Given the description of an element on the screen output the (x, y) to click on. 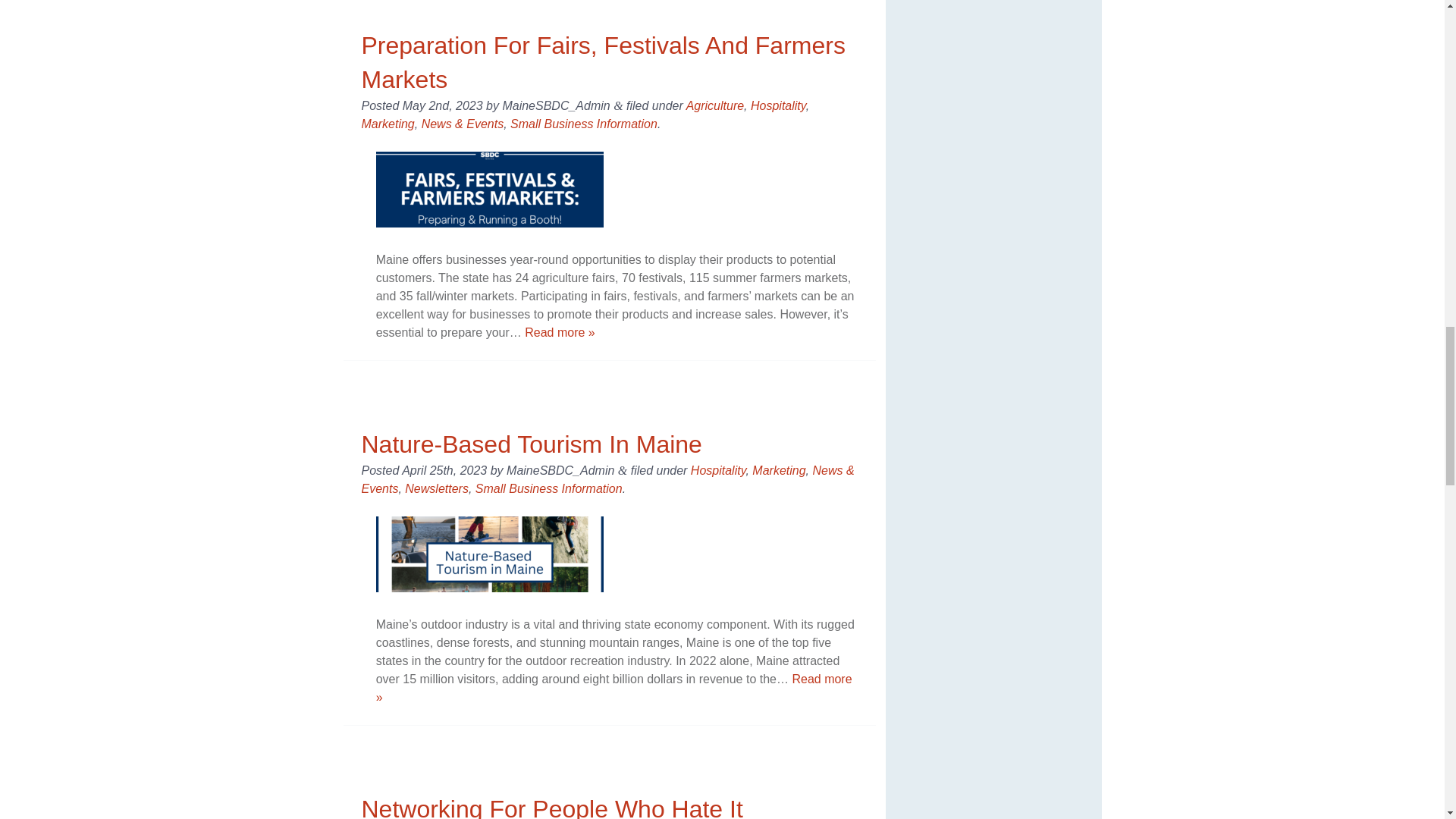
Networking For People Who Hate It (551, 807)
Preparation For Fairs, Festivals And Farmers Markets (602, 62)
Nature-Based Tourism In Maine (531, 443)
Read Nature-Based Tourism In Maine (613, 687)
Read Preparation For Fairs, Festivals And Farmers Markets (559, 332)
